Given the description of an element on the screen output the (x, y) to click on. 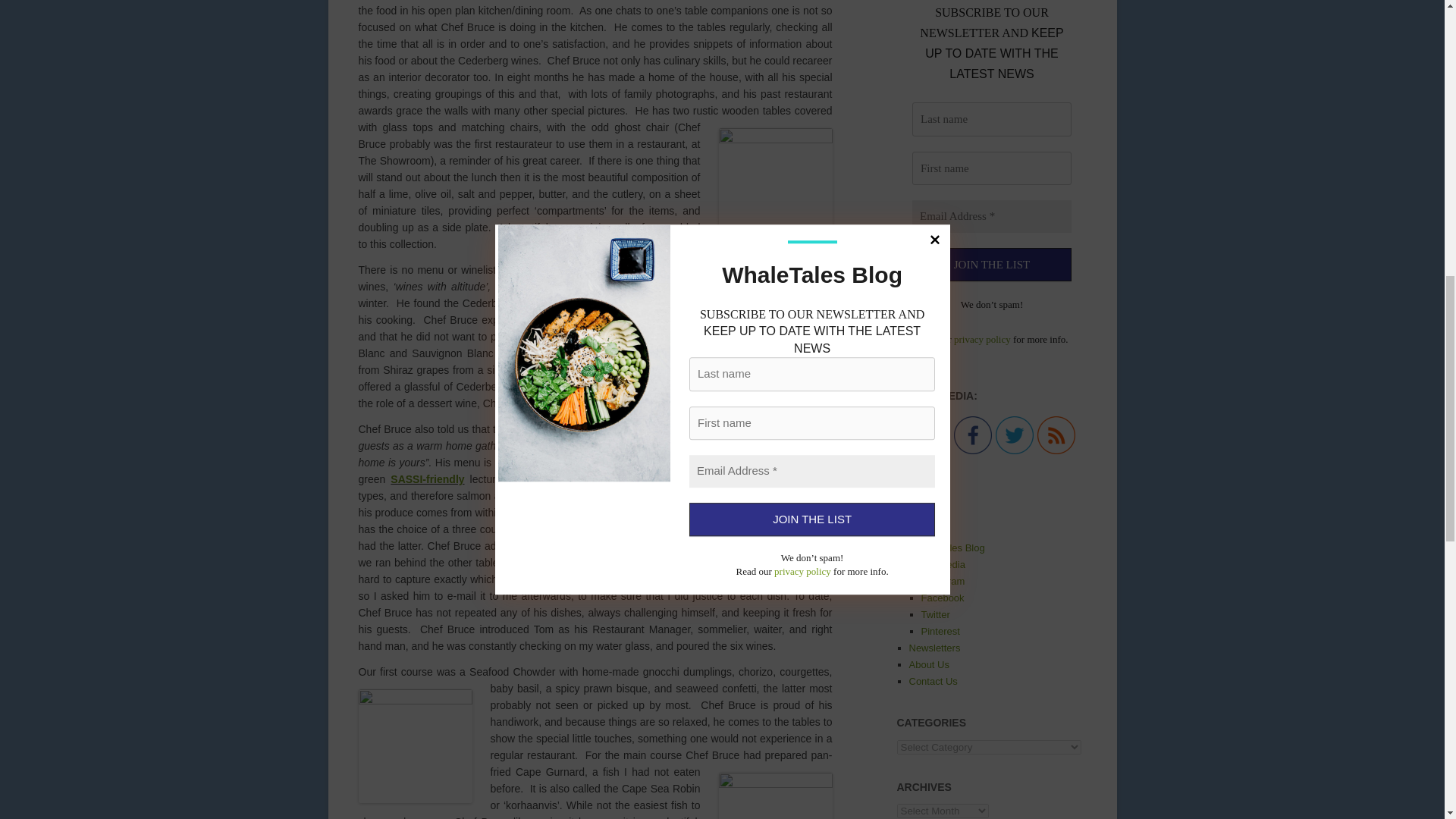
SASSI-friendly (427, 479)
First name (990, 168)
Last name (990, 119)
boat-house-gnocchi-whale-cottage-portfolio (414, 746)
Instagram (930, 435)
JOIN THE LIST (990, 264)
boat-house-gurnard-whale-cottage-portfolio (775, 796)
boat-house-side-plate-whale-cottage-portfolio (775, 184)
privacy policy (981, 338)
JOIN THE LIST (990, 264)
Email Address (990, 215)
